Given the description of an element on the screen output the (x, y) to click on. 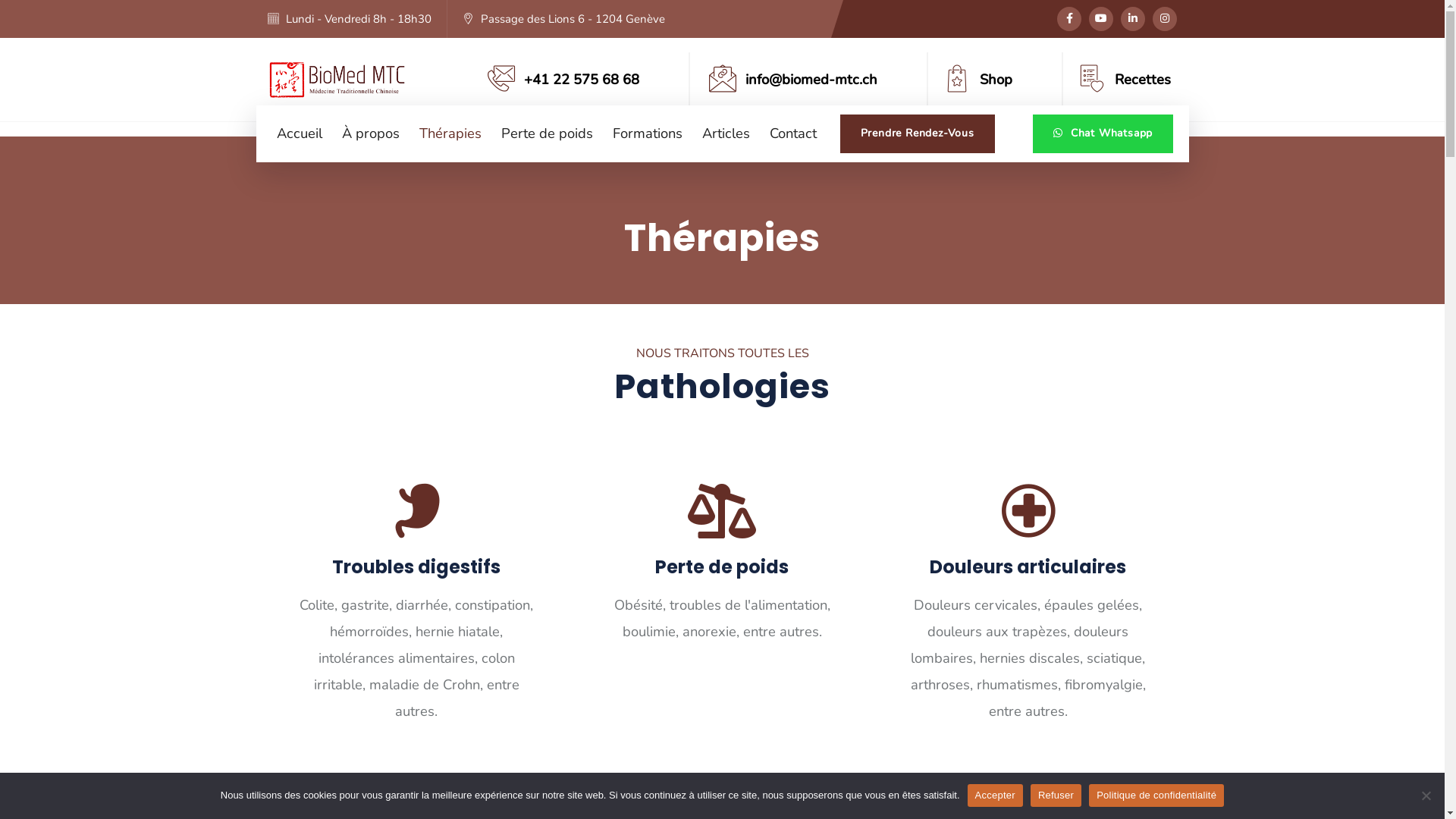
Prendre Rendez-Vous Element type: text (917, 133)
Shop Element type: text (995, 78)
Refuser Element type: text (1055, 795)
Chat Whatsapp Element type: text (1102, 133)
Perte de poids Element type: text (536, 133)
Accepter Element type: text (994, 795)
Accueil Element type: text (288, 133)
Articles Element type: text (715, 133)
Formations Element type: text (637, 133)
Refuser Element type: hover (1425, 795)
Recettes Element type: text (1142, 78)
Contact Element type: text (782, 133)
